Given the description of an element on the screen output the (x, y) to click on. 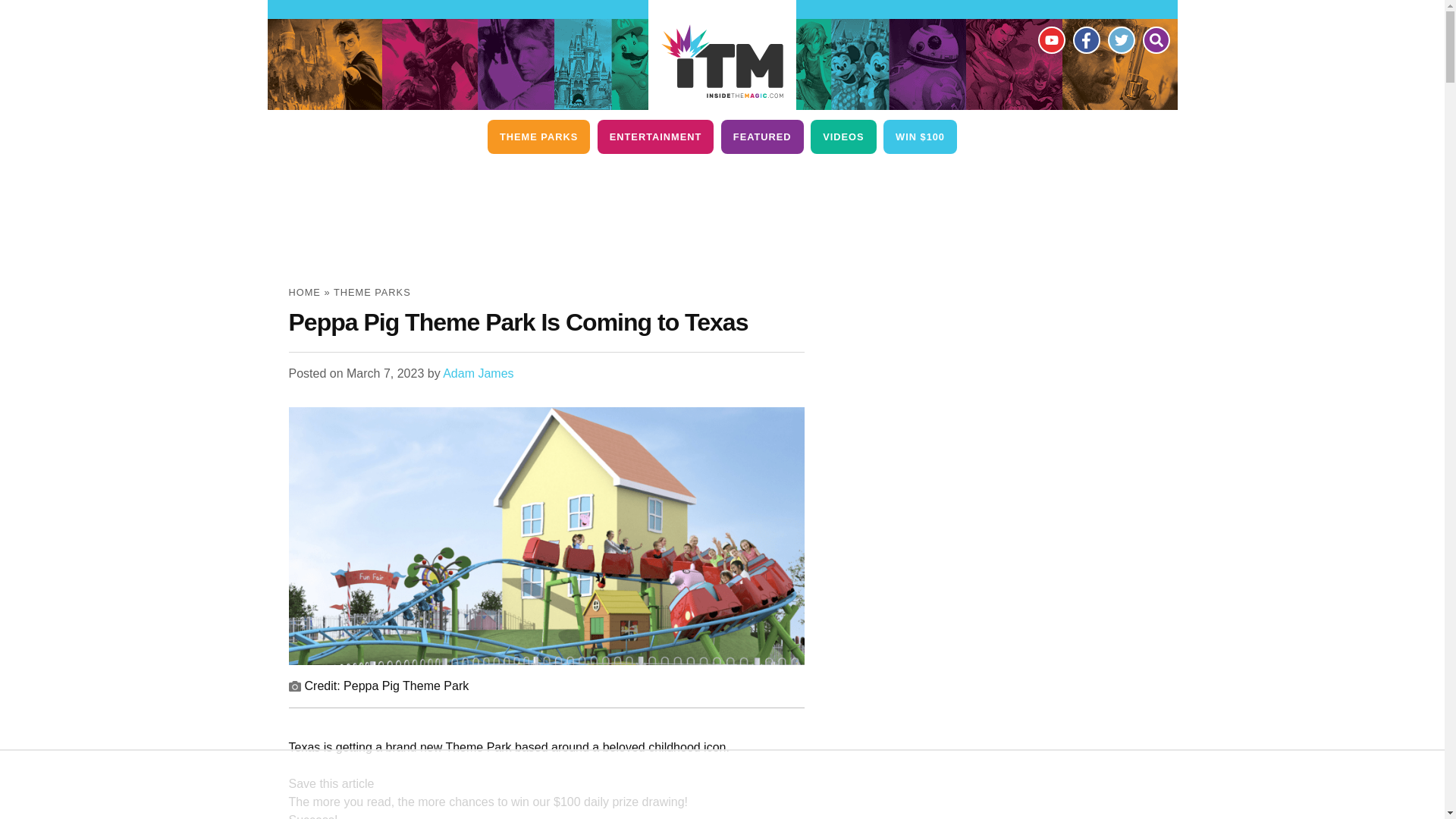
YouTube (1050, 40)
ENTERTAINMENT (655, 136)
THEME PARKS (538, 136)
FEATURED (761, 136)
Twitter (1120, 40)
Search (1155, 40)
Facebook (1085, 40)
